Given the description of an element on the screen output the (x, y) to click on. 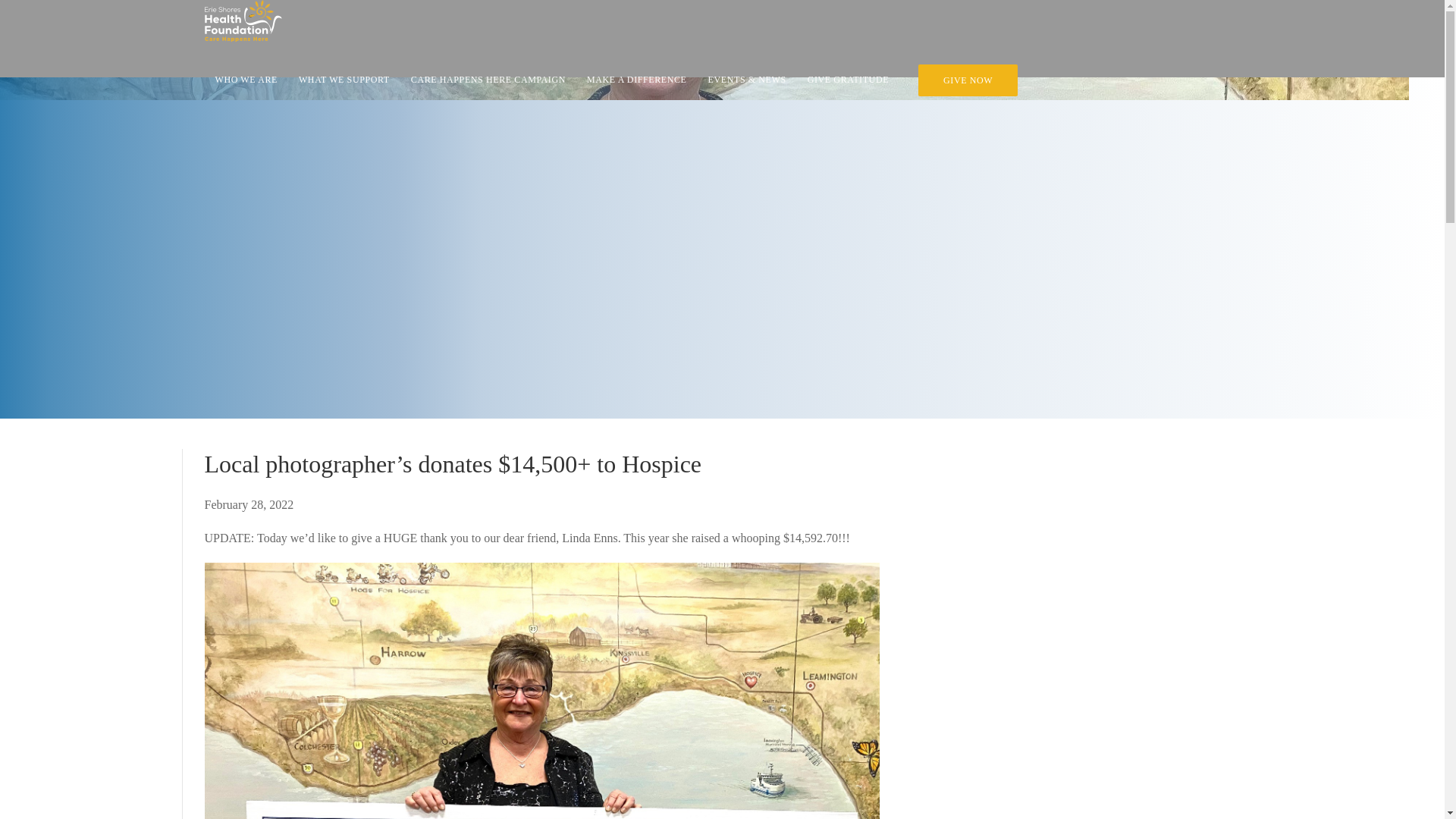
GIVE NOW (967, 80)
GIVE GRATITUDE (847, 79)
CARE HAPPENS HERE CAMPAIGN (488, 79)
WHAT WE SUPPORT (344, 79)
MAKE A DIFFERENCE (636, 79)
WHO WE ARE (245, 79)
